Given the description of an element on the screen output the (x, y) to click on. 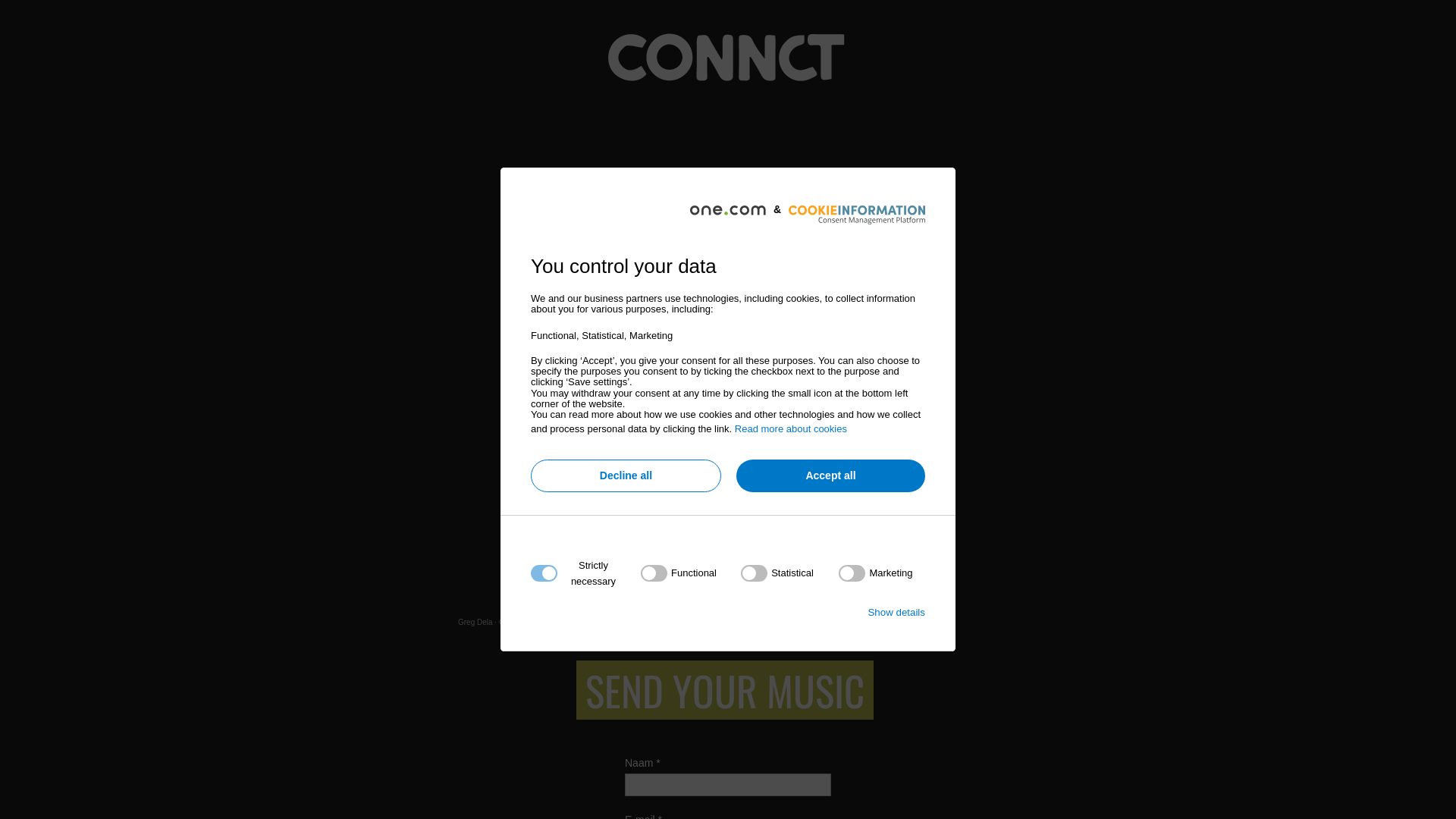
Functional Element type: text (723, 756)
on Element type: text (875, 573)
on Element type: text (776, 573)
Strictly necessary Element type: text (723, 665)
Show details Element type: text (896, 612)
Accept all Element type: text (830, 475)
on Element type: text (678, 573)
Greg Dela Presents: CONNCT Radio Element type: text (561, 622)
Read more about cookies Element type: text (790, 428)
Greg Dela Element type: text (475, 622)
Decline all Element type: text (625, 475)
